Given the description of an element on the screen output the (x, y) to click on. 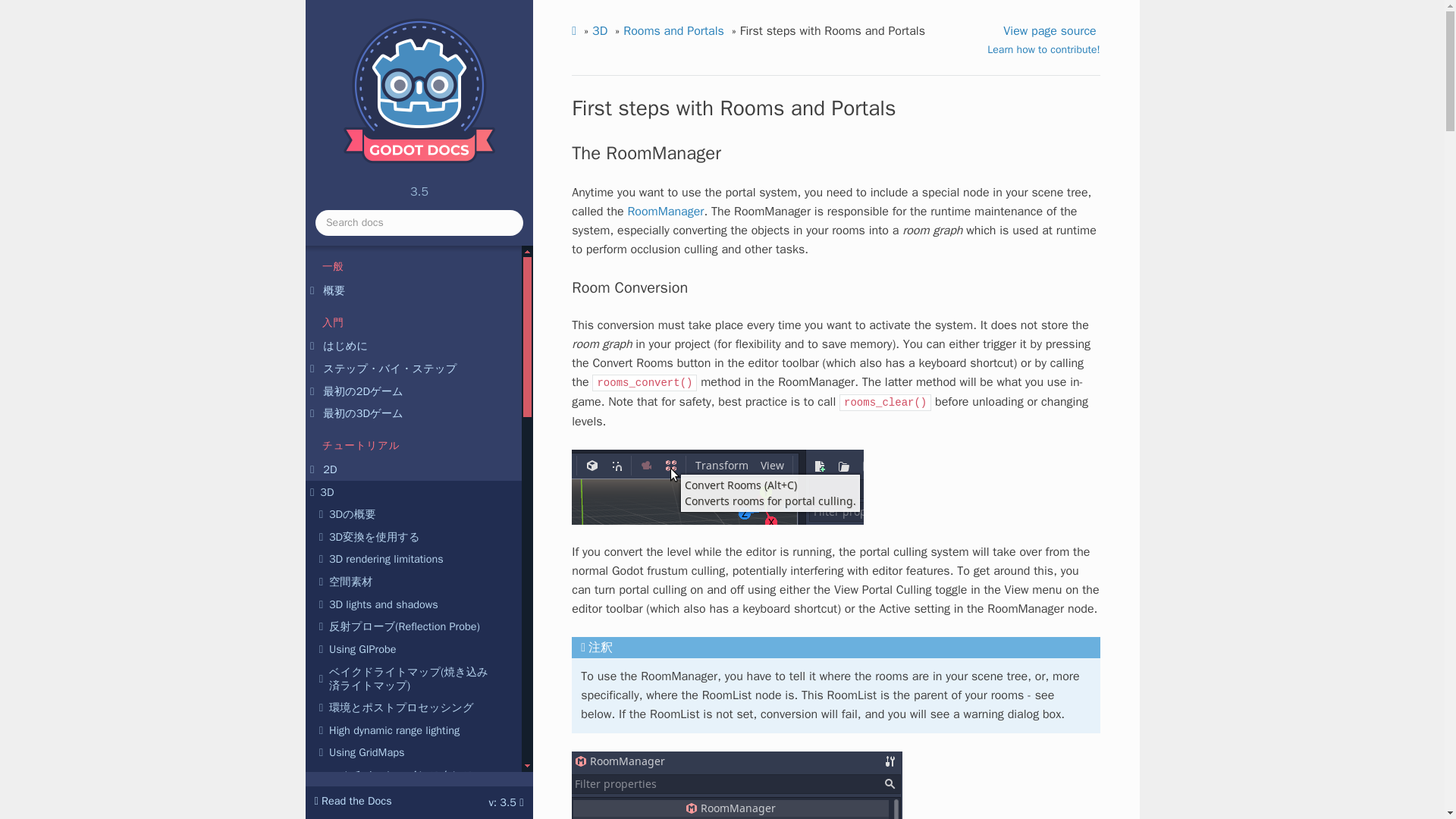
3.5 (418, 122)
